Given the description of an element on the screen output the (x, y) to click on. 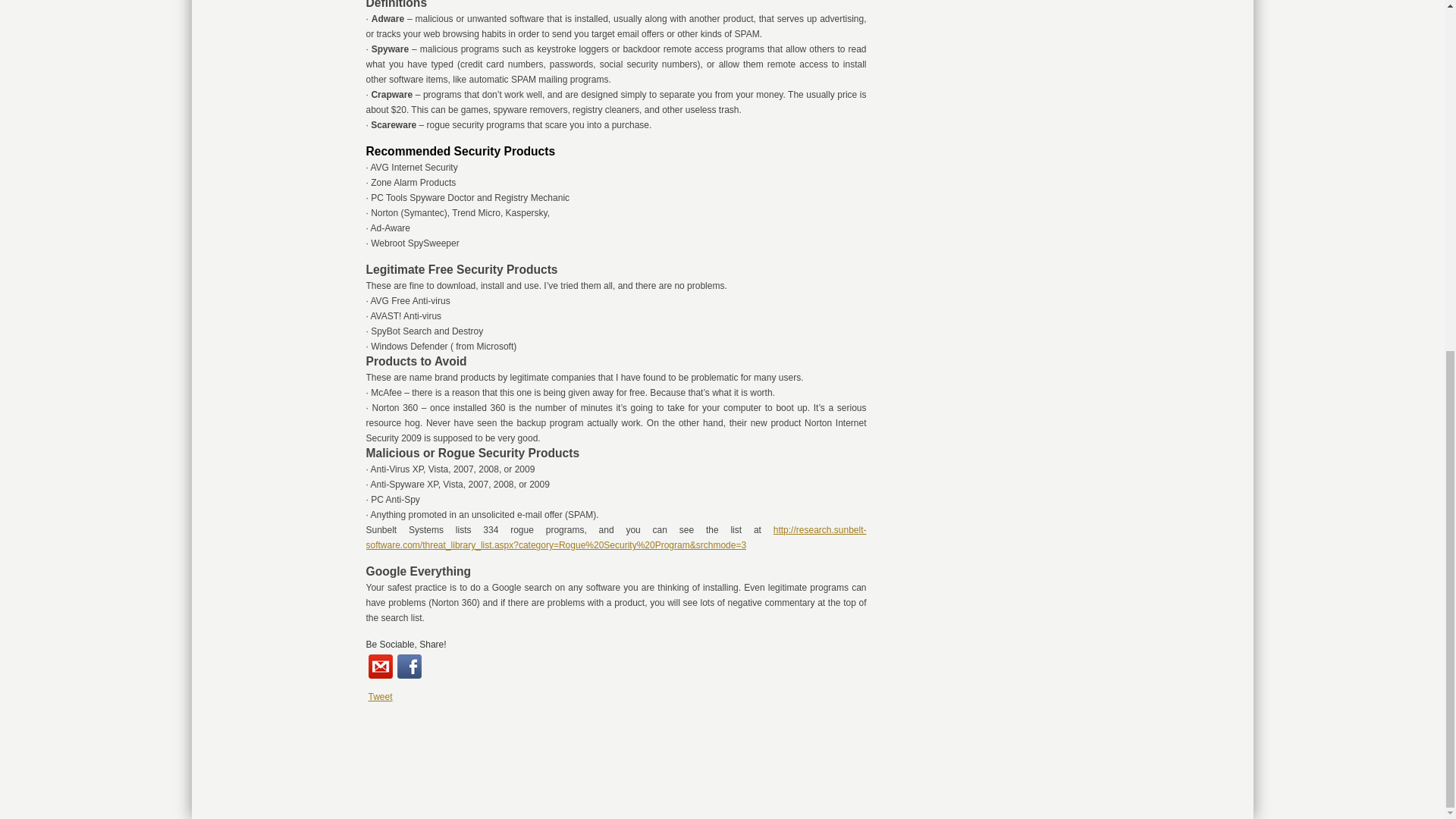
Be Sociable, Share! (405, 644)
Facebook (409, 666)
email (380, 666)
